Given the description of an element on the screen output the (x, y) to click on. 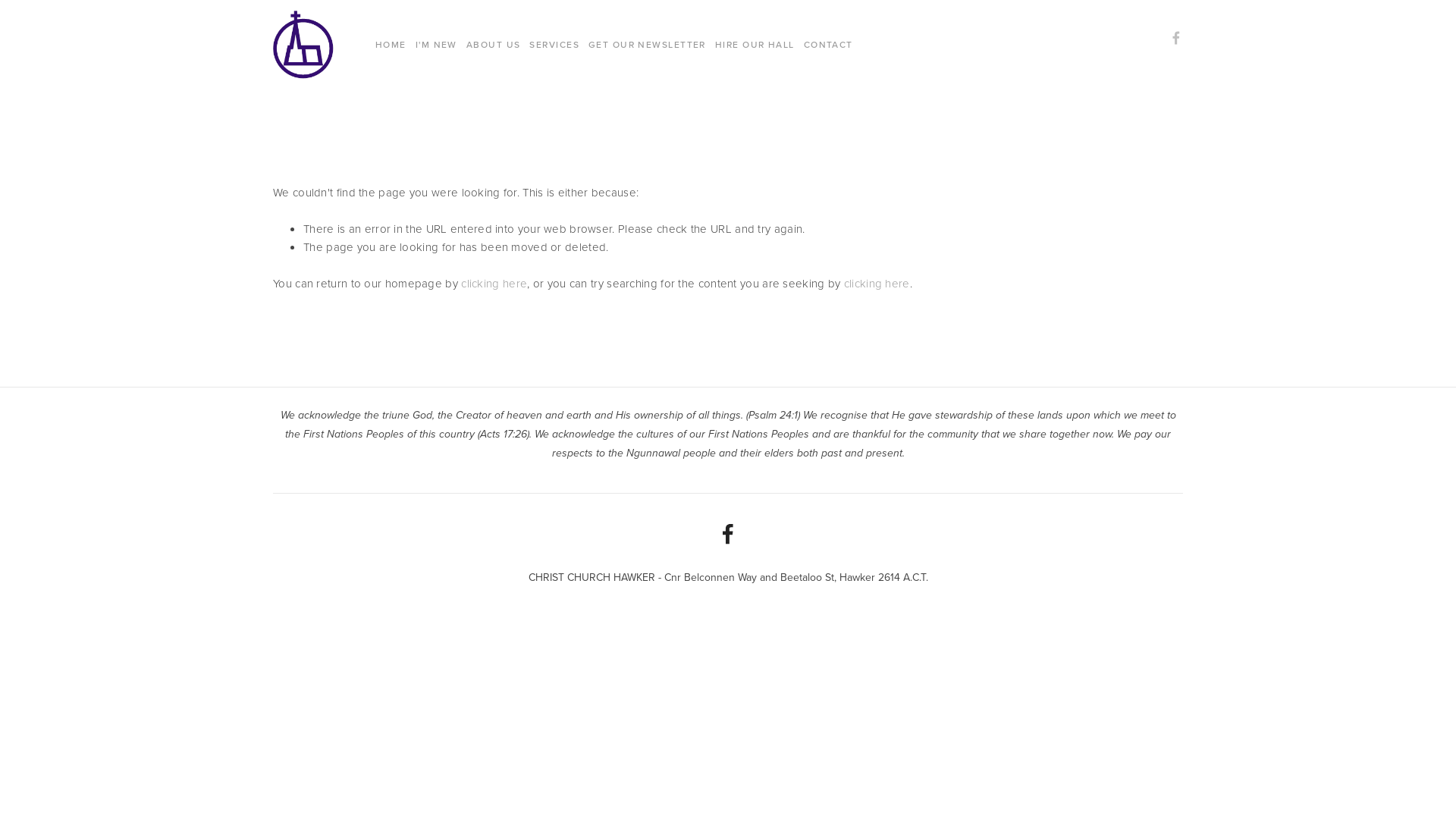
SERVICES Element type: text (553, 44)
HIRE OUR HALL Element type: text (754, 44)
GET OUR NEWSLETTER Element type: text (646, 44)
clicking here Element type: text (877, 283)
ABOUT US Element type: text (493, 44)
CONTACT Element type: text (828, 44)
I'M NEW Element type: text (436, 44)
clicking here Element type: text (494, 283)
HOME Element type: text (390, 44)
